Given the description of an element on the screen output the (x, y) to click on. 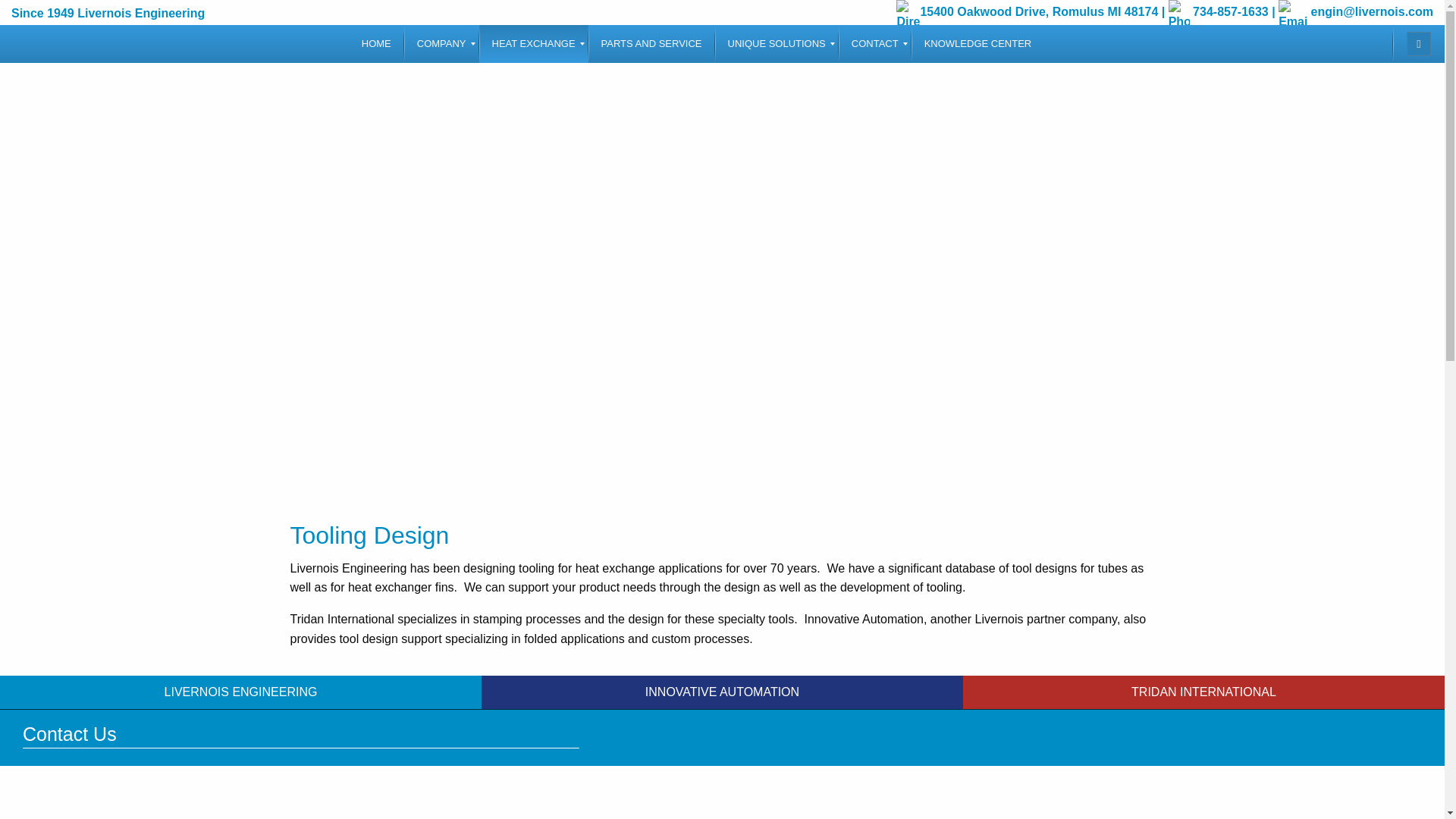
15400 Oakwood Drive, Romulus MI 48174 (1026, 9)
HEAT EXCHANGE (533, 44)
COMPANY (441, 44)
734-857-1633 (1218, 9)
Search (1418, 44)
Home (376, 44)
HOME (376, 44)
